Given the description of an element on the screen output the (x, y) to click on. 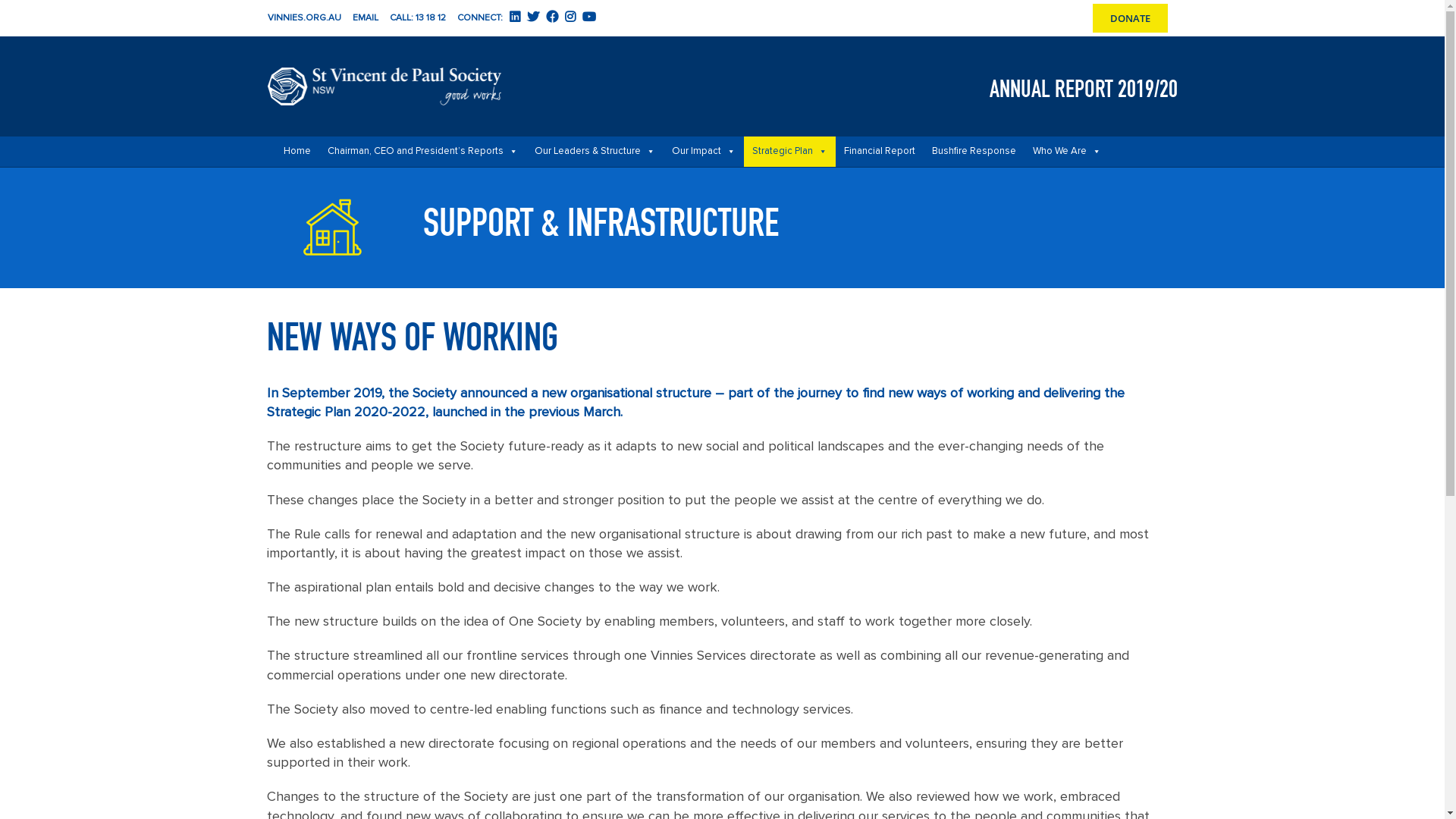
DONATE Element type: text (1129, 18)
    Element type: text (572, 17)
Banner_support_infrastructure-01 Element type: hover (332, 227)
Who We Are Element type: text (1065, 151)
Bushfire Response Element type: text (973, 151)
Home Element type: text (296, 151)
VINNIES.ORG.AU Element type: text (303, 17)
Financial Report Element type: text (879, 151)
Our Leaders & Structure Element type: text (594, 151)
Our Impact Element type: text (702, 151)
EMAIL Element type: text (364, 17)
Strategic Plan Element type: text (788, 151)
